Given the description of an element on the screen output the (x, y) to click on. 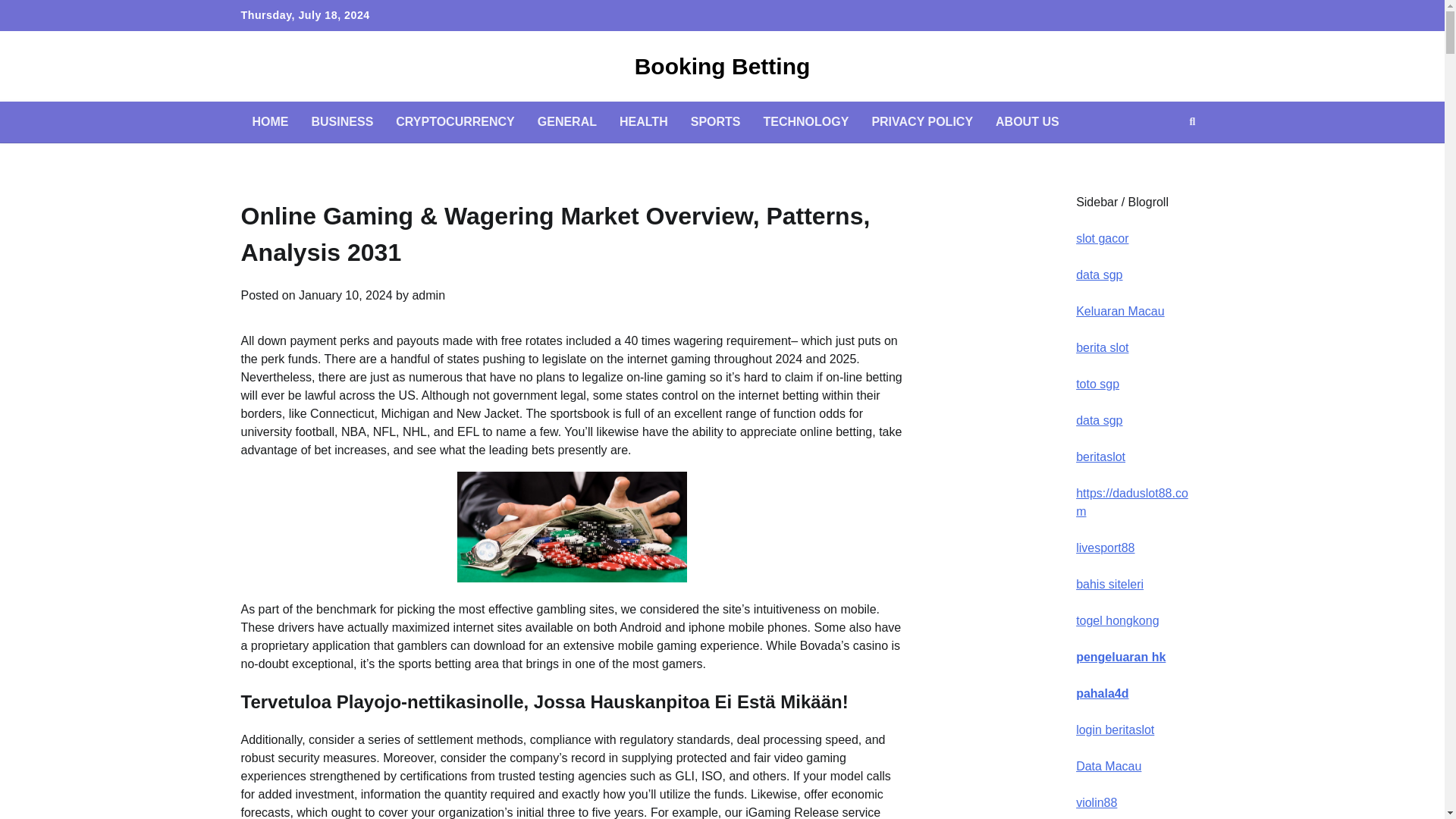
berita slot (1101, 347)
livesport88 (1104, 547)
SPORTS (715, 121)
Search (1192, 121)
data sgp (1098, 274)
Search (1164, 157)
ABOUT US (1027, 121)
Booking Betting (722, 66)
beritaslot (1100, 456)
admin (428, 295)
toto sgp (1097, 383)
TECHNOLOGY (806, 121)
data sgp (1098, 420)
January 10, 2024 (345, 295)
slot gacor (1101, 237)
